Given the description of an element on the screen output the (x, y) to click on. 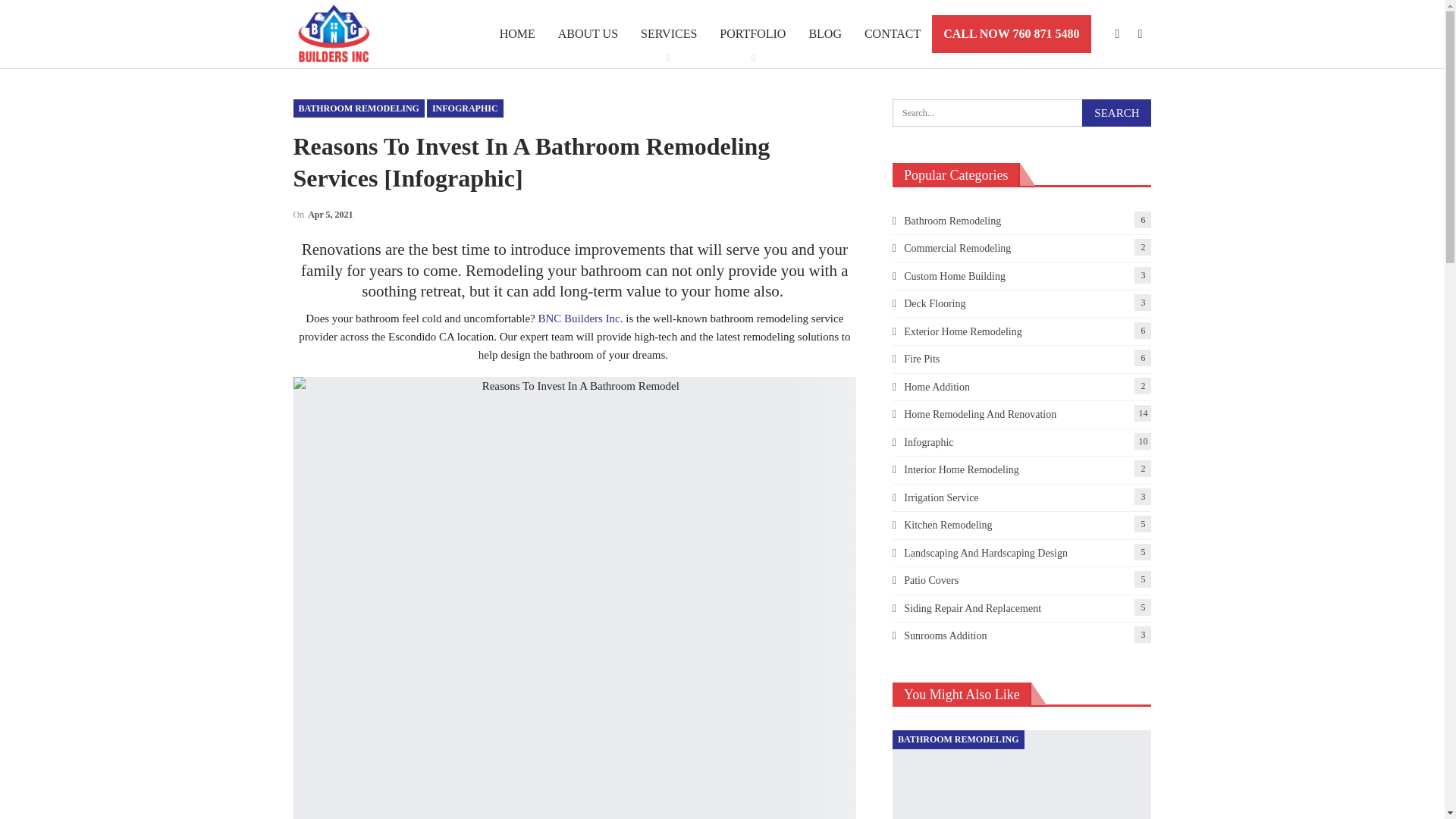
BATHROOM REMODELING (357, 108)
Search (1116, 112)
SERVICES (667, 33)
Search (1116, 112)
CONTACT (892, 33)
PORTFOLIO (751, 33)
CALL NOW 760 871 5480 (1010, 34)
Search for: (1021, 112)
ABOUT US (587, 33)
BNC Builders Inc. (580, 318)
